Given the description of an element on the screen output the (x, y) to click on. 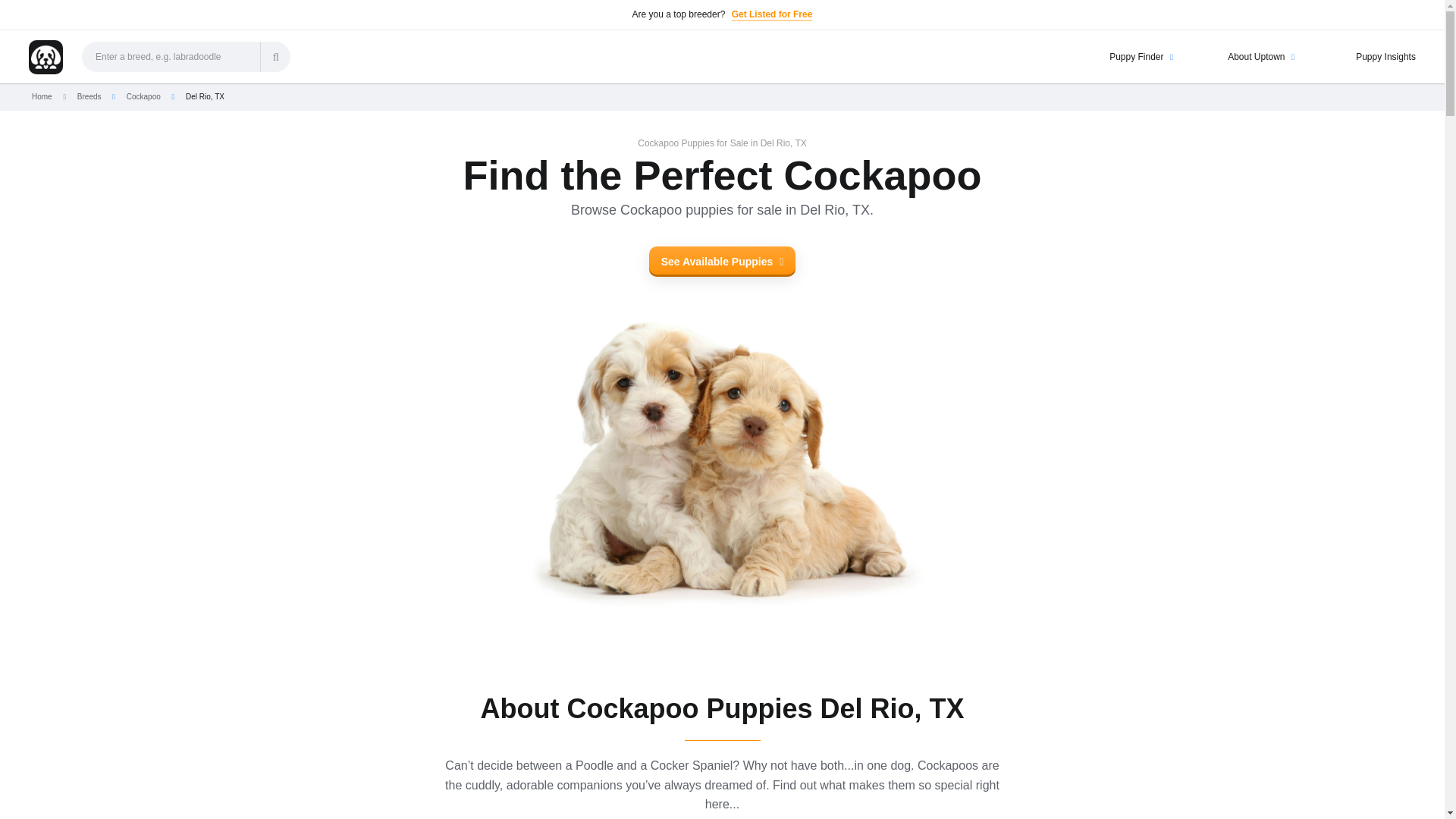
Breeds (89, 96)
Home (42, 96)
Get Listed for Free (772, 15)
Puppy Finder (1121, 56)
Cockapoo (143, 96)
See Available Puppies (722, 261)
Puppy Insights (1364, 56)
About Uptown (1243, 56)
